Given the description of an element on the screen output the (x, y) to click on. 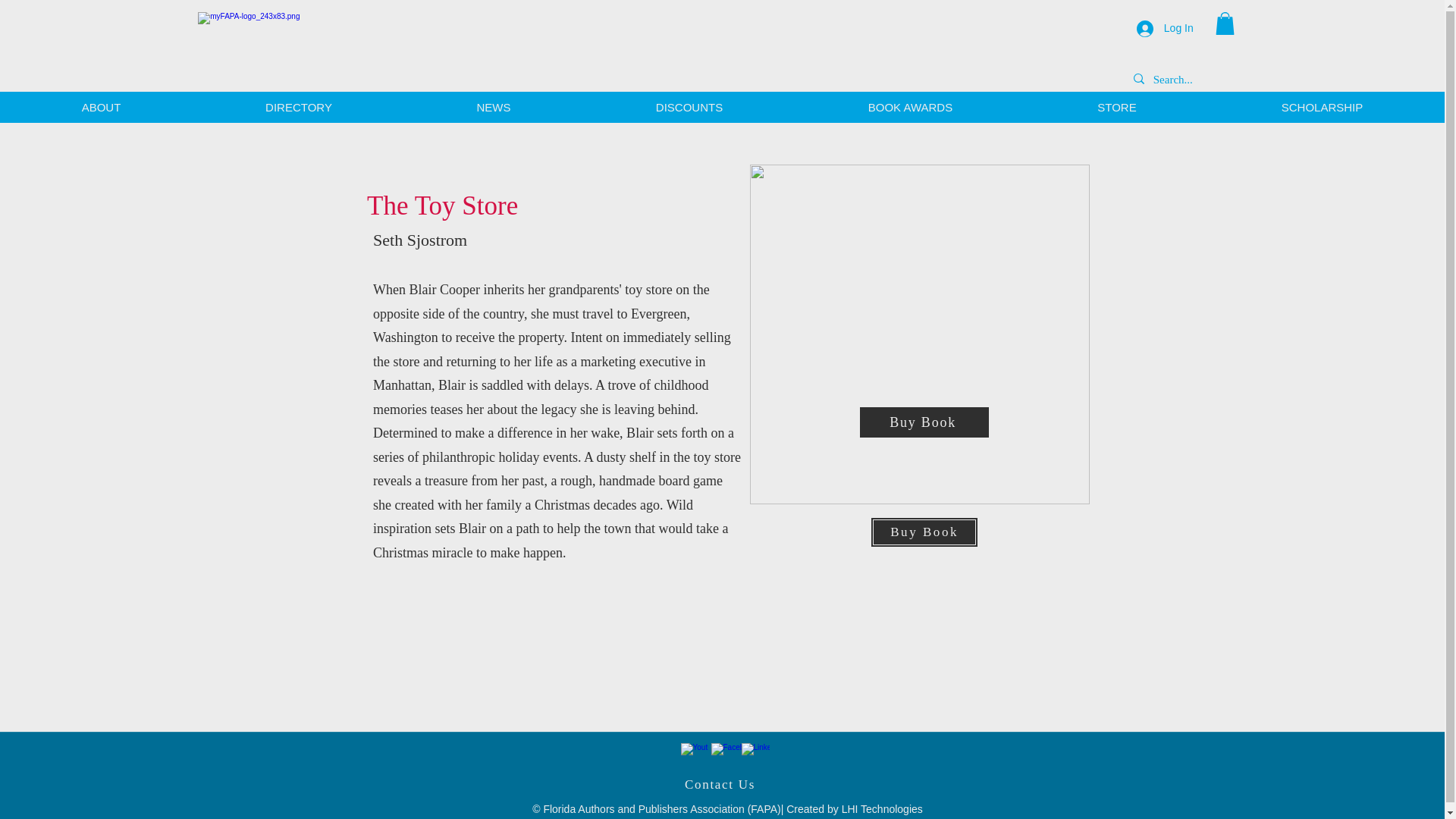
Log In (1164, 28)
STORE (1116, 106)
NEWS (493, 106)
DISCOUNTS (688, 106)
ABOUT (100, 106)
Buy Book (924, 422)
BOOK AWARDS (909, 106)
SCHOLARSHIP (1321, 106)
DIRECTORY (298, 106)
Buy Book (924, 531)
